Given the description of an element on the screen output the (x, y) to click on. 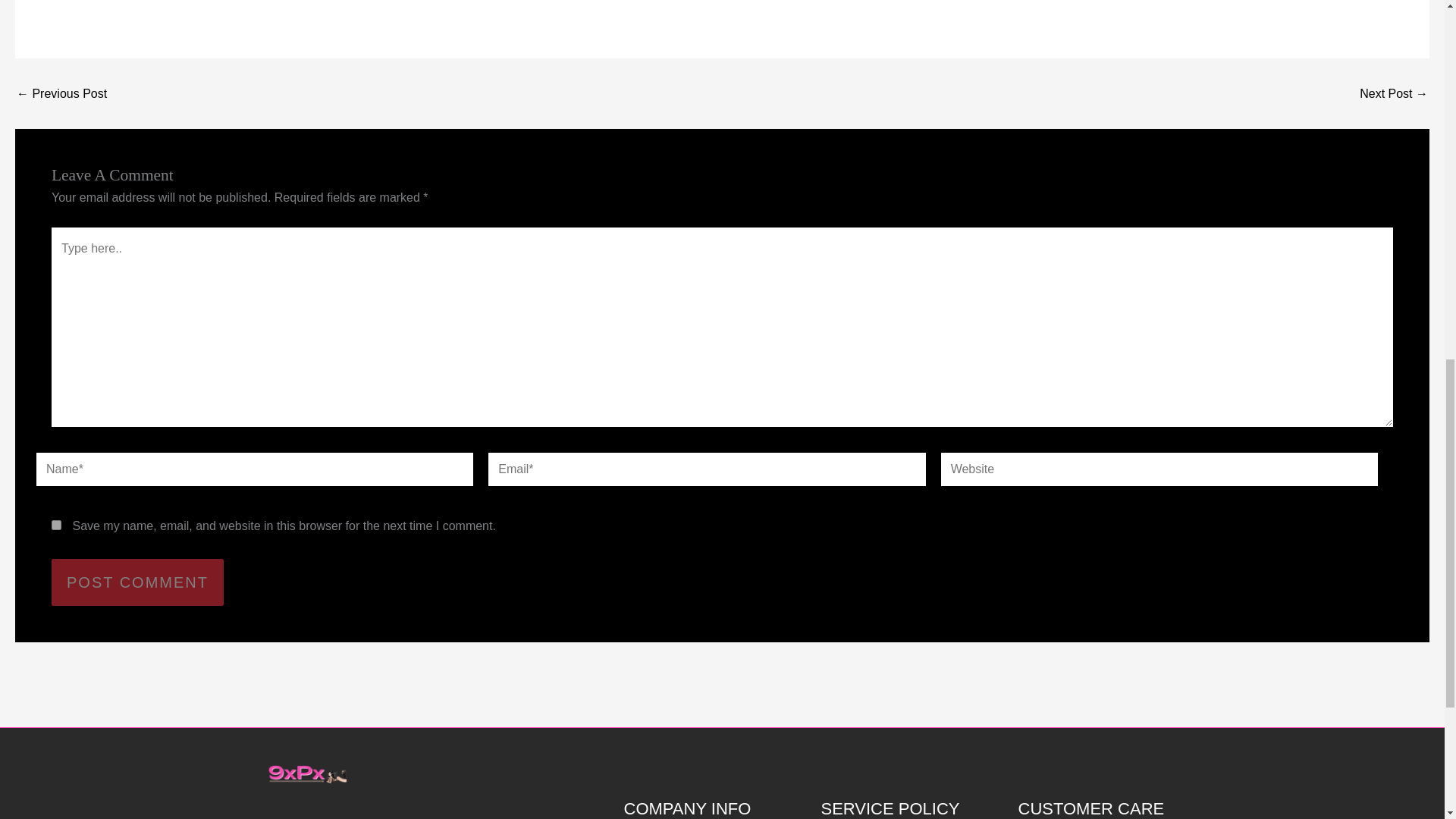
A BEGINNER'S GUIDE TO RESTRAINTS AND BDSM (1393, 93)
yes (55, 524)
Post Comment (137, 582)
